Given the description of an element on the screen output the (x, y) to click on. 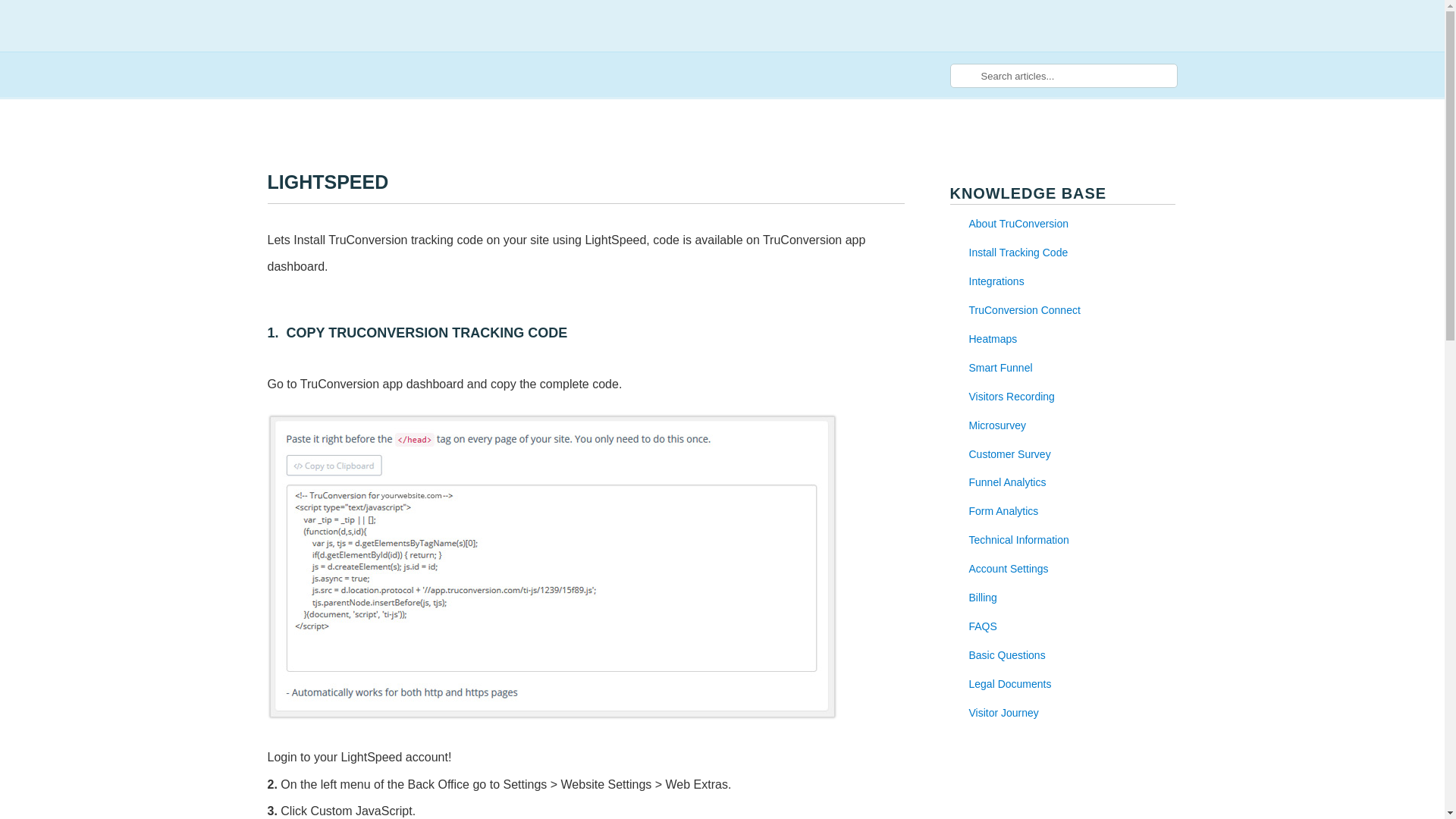
View (993, 338)
View (1024, 309)
Account Settings (1008, 568)
View (997, 281)
Billing (983, 597)
View (1007, 481)
Customer Survey (1010, 453)
View (1011, 396)
Funnel Analytics (1007, 481)
View (1010, 453)
